Given the description of an element on the screen output the (x, y) to click on. 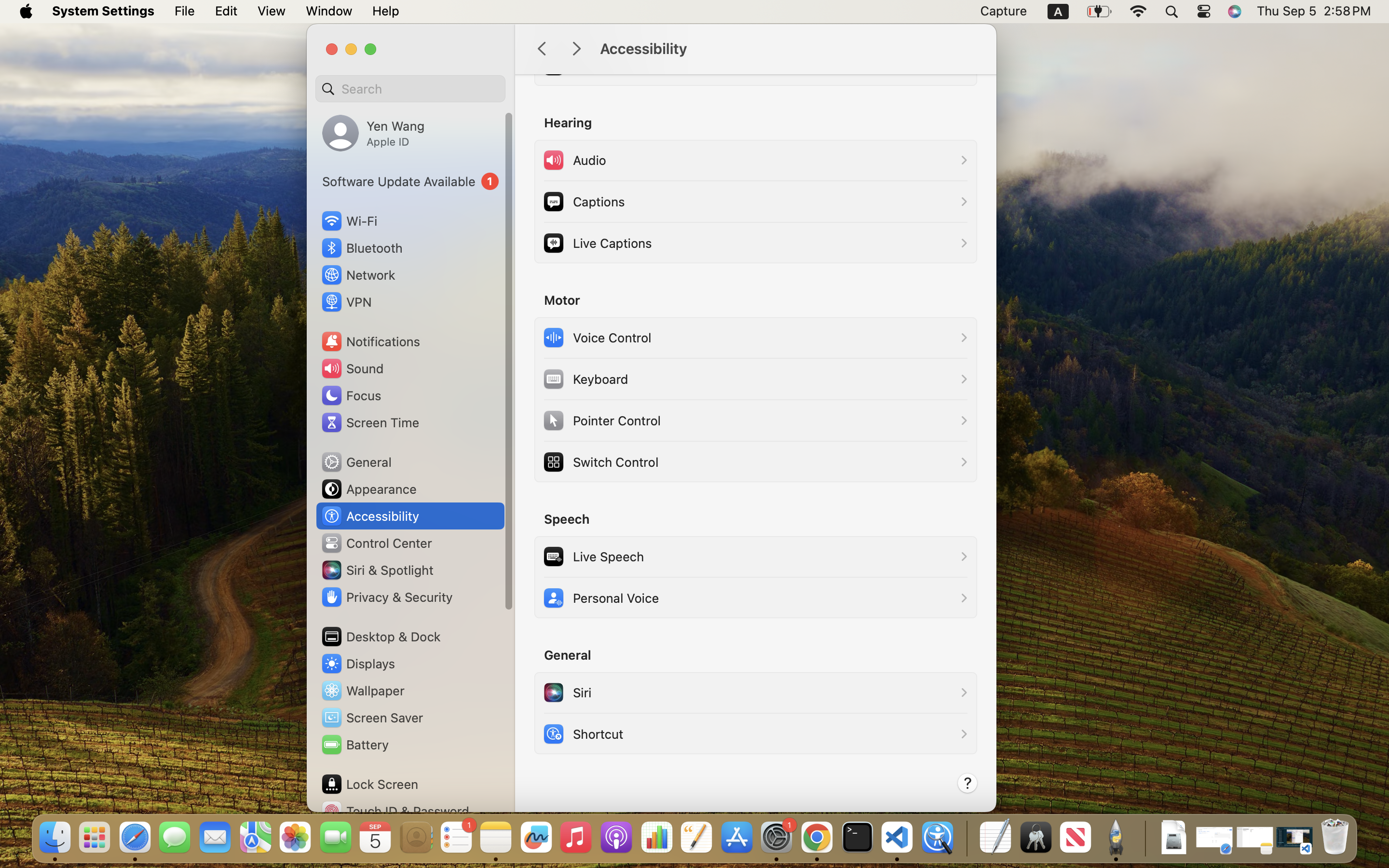
Notifications Element type: AXStaticText (370, 340)
Focus Element type: AXStaticText (350, 394)
Desktop & Dock Element type: AXStaticText (380, 636)
Wallpaper Element type: AXStaticText (362, 690)
